Given the description of an element on the screen output the (x, y) to click on. 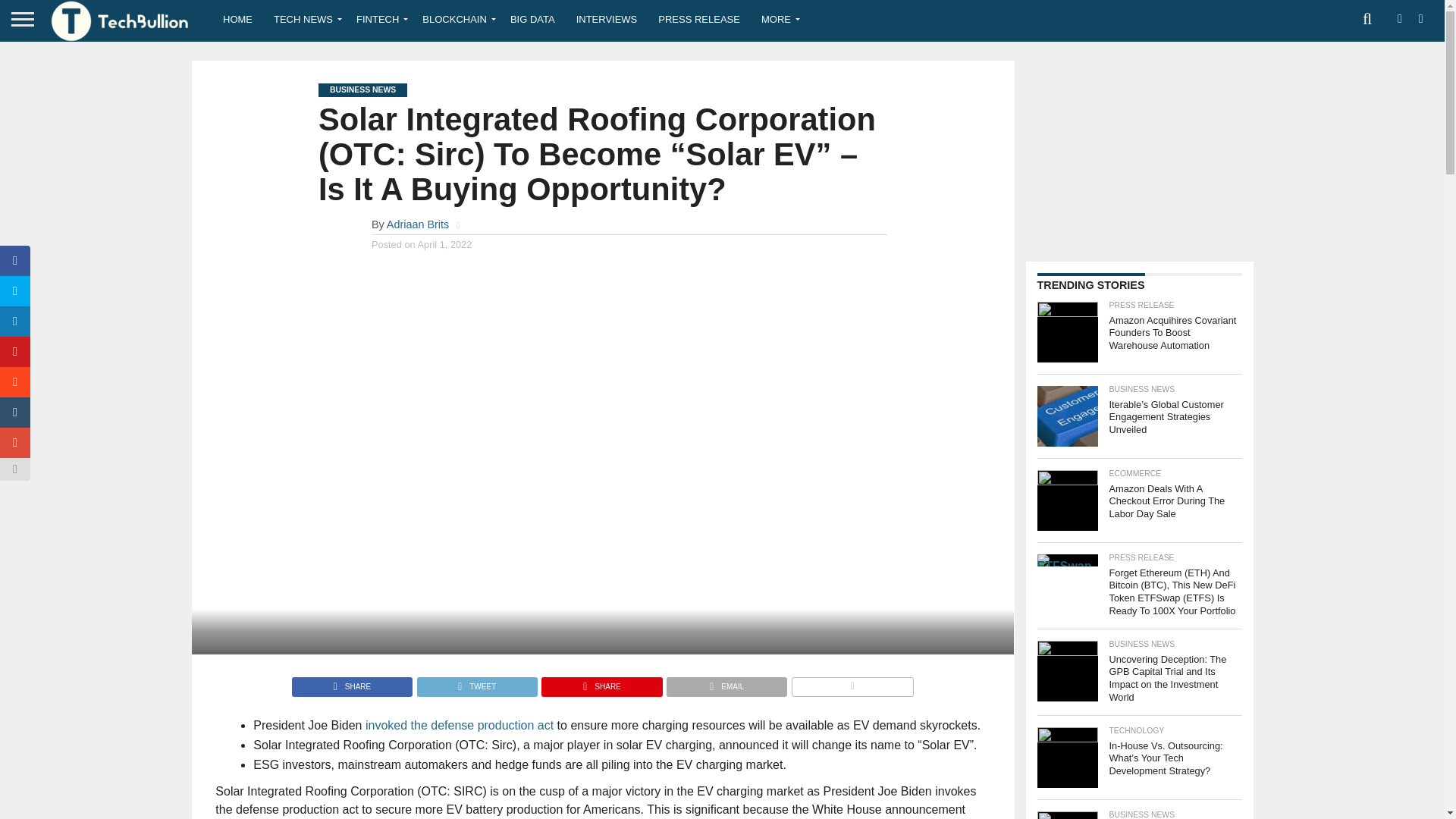
Pin This Post (601, 682)
Posts by Adriaan Brits (417, 224)
Share on Facebook (352, 682)
Tweet This Post (476, 682)
